Given the description of an element on the screen output the (x, y) to click on. 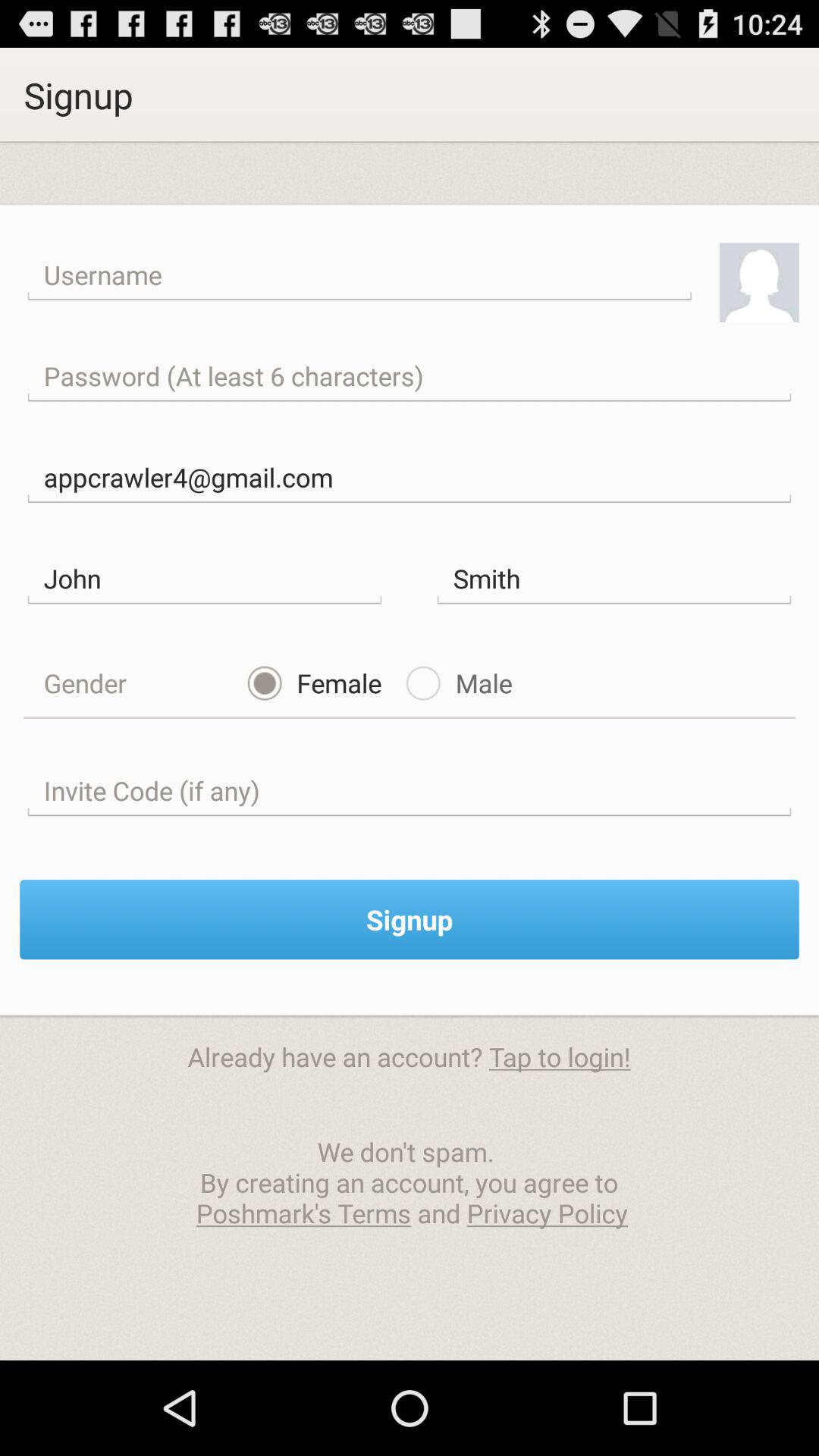
type username (359, 275)
